Given the description of an element on the screen output the (x, y) to click on. 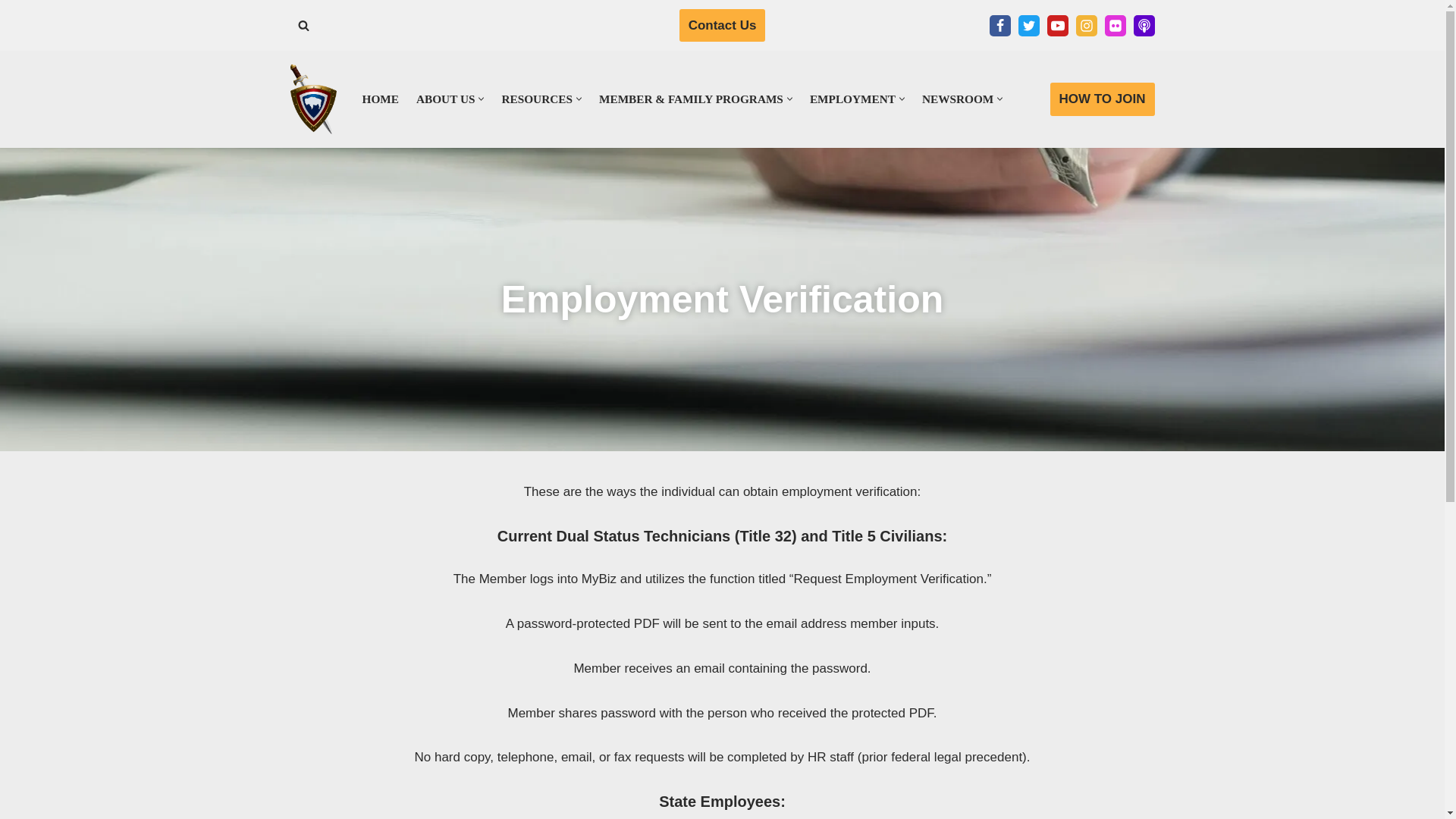
HOME (380, 98)
ABOUT US (446, 98)
Twitter (1028, 25)
Flickr (1114, 25)
RESOURCES (536, 98)
Podcasts (1143, 25)
Skip to content (11, 31)
Instagram (1085, 25)
Contact Us (722, 25)
Youtube (1056, 25)
Facebook (999, 25)
